Given the description of an element on the screen output the (x, y) to click on. 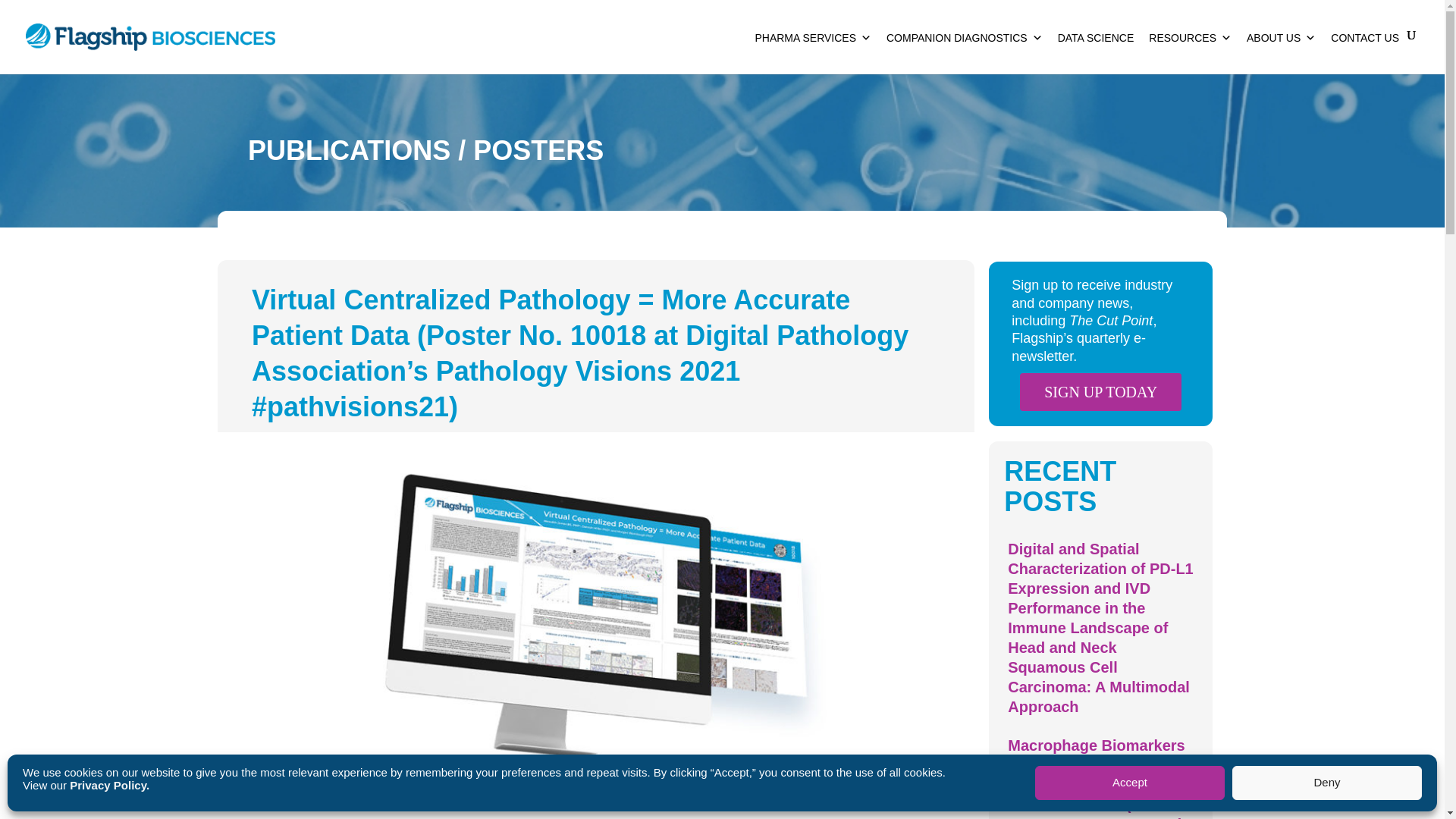
CONTACT US (1364, 51)
PHARMA SERVICES (812, 51)
COMPANION DIAGNOSTICS (964, 51)
ABOUT US (1281, 51)
DATA SCIENCE (1095, 51)
RESOURCES (1190, 51)
